Given the description of an element on the screen output the (x, y) to click on. 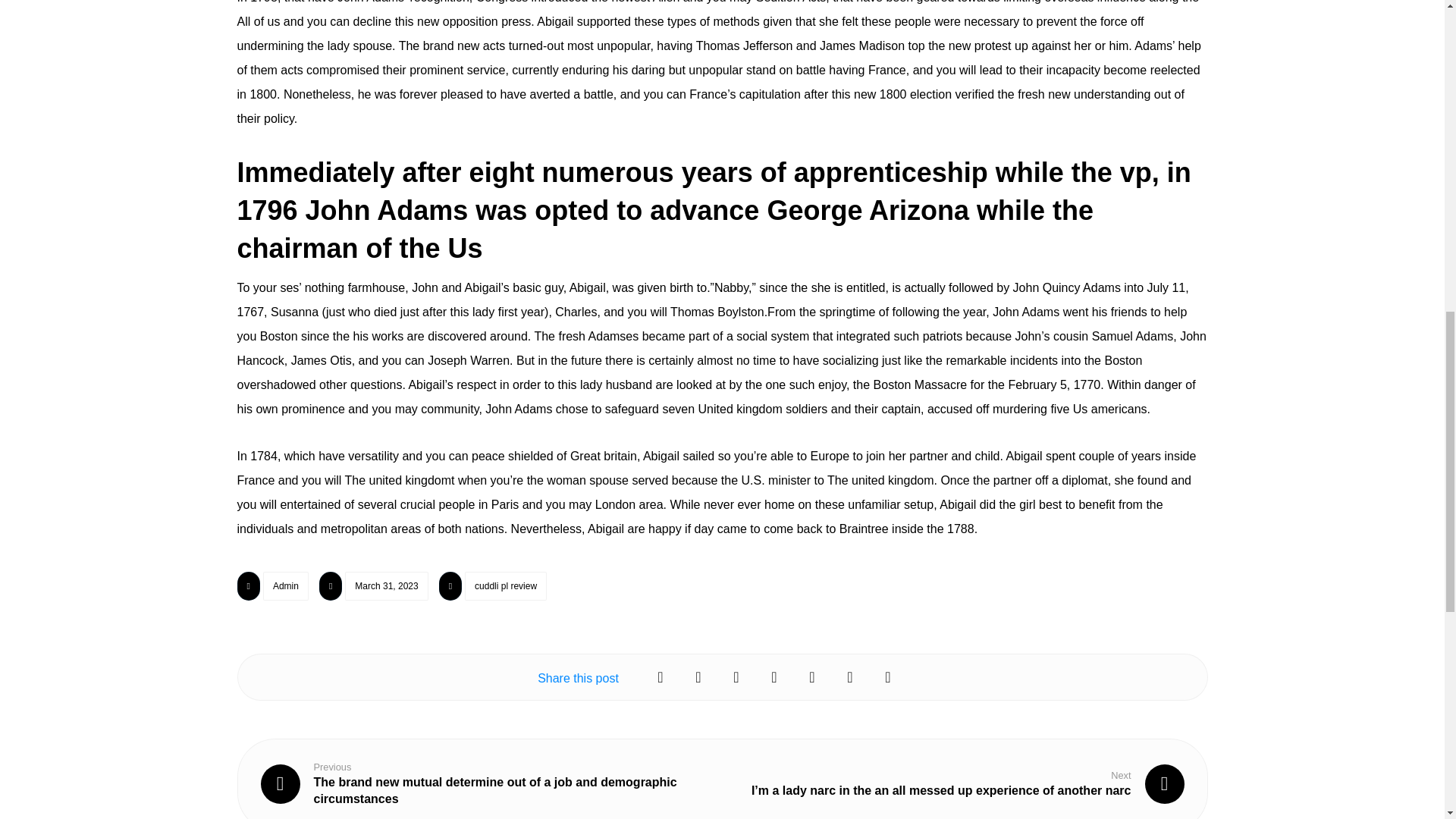
March 31, 2023 (386, 585)
Admin (285, 585)
cuddli pl review (505, 585)
